Given the description of an element on the screen output the (x, y) to click on. 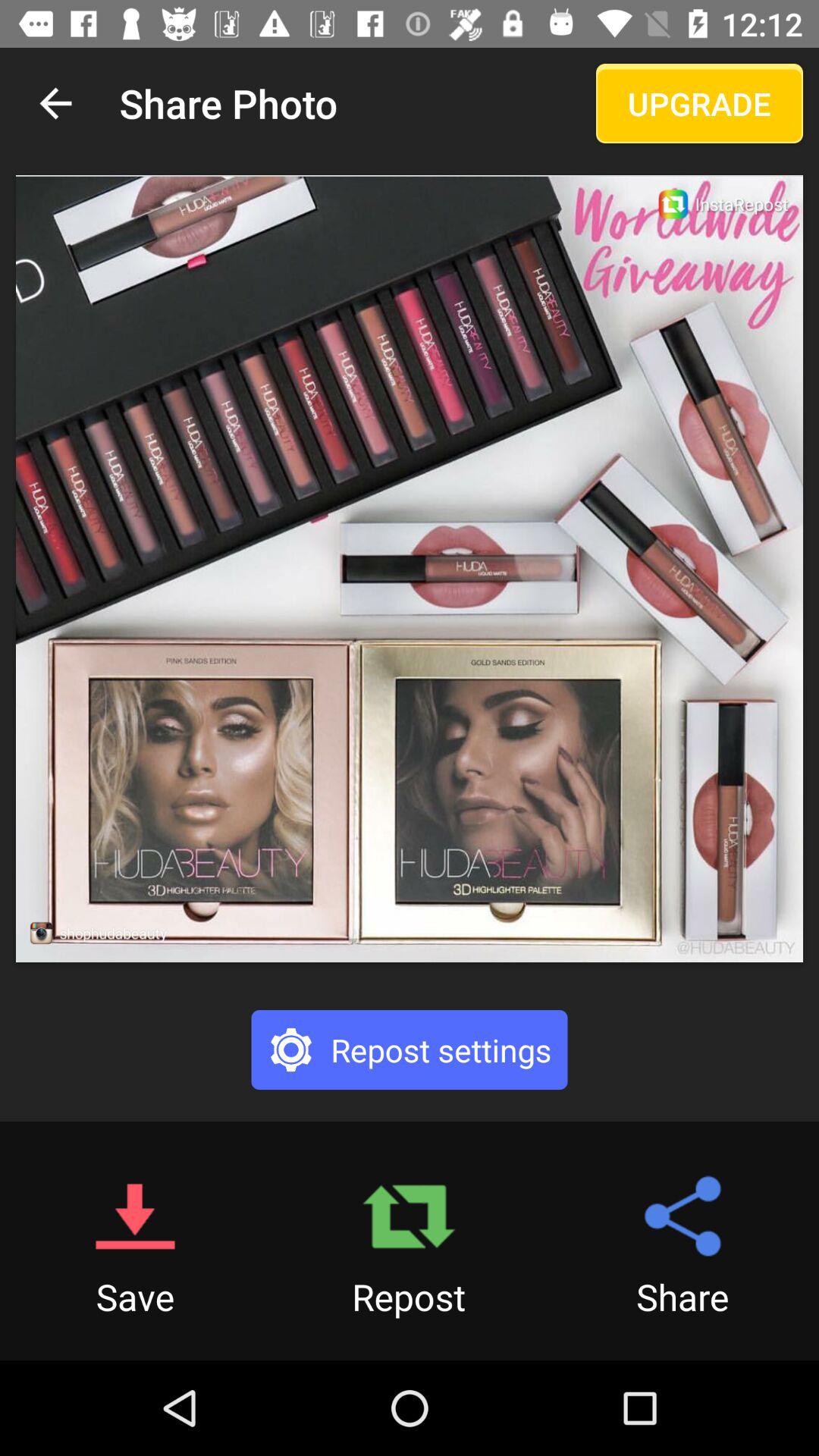
press icon to the left of the share photo app (55, 103)
